Given the description of an element on the screen output the (x, y) to click on. 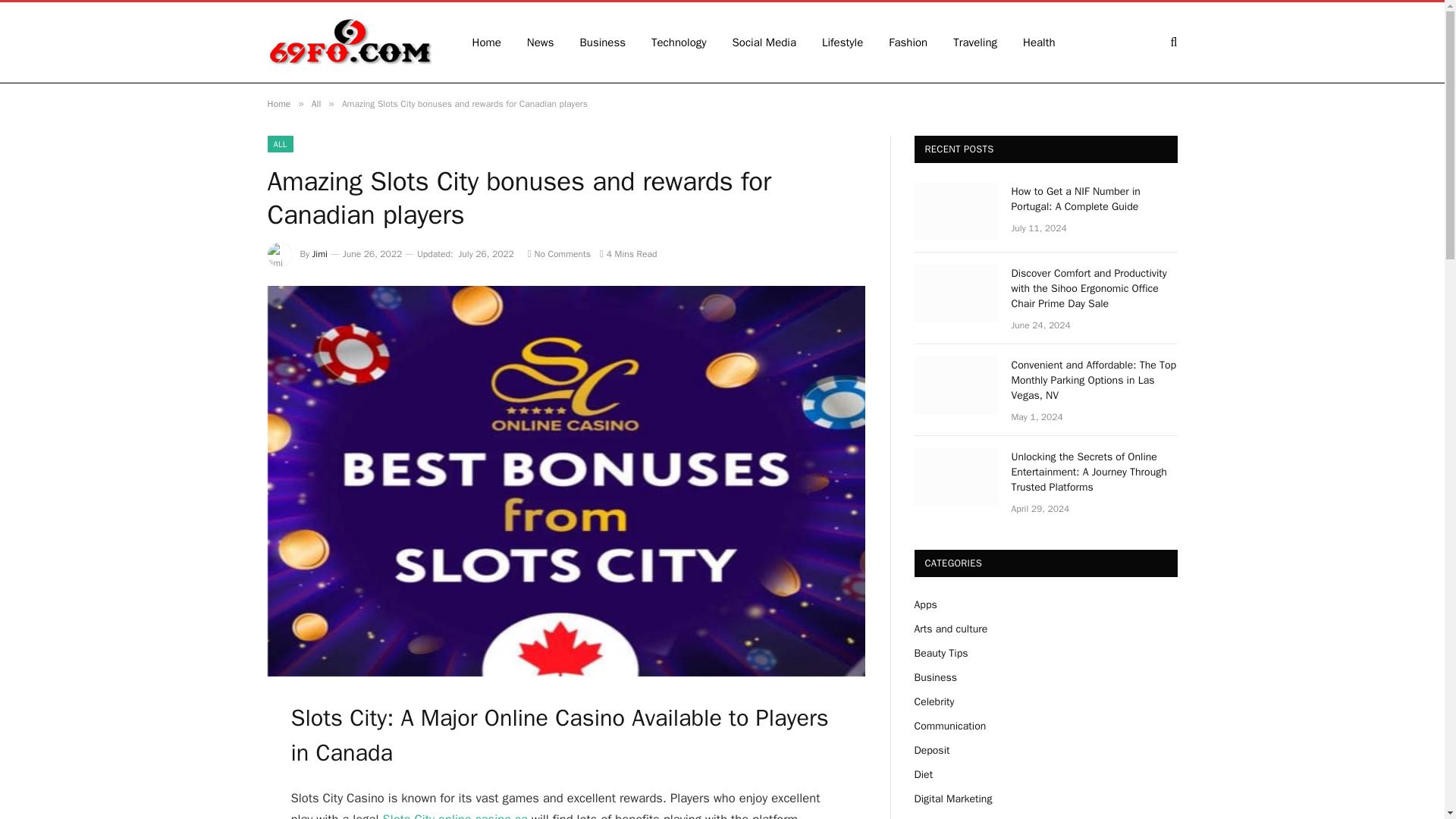
How to Get a NIF Number in Portugal: A Complete Guide (955, 211)
69fo.com (349, 41)
Posts by Jimi (320, 254)
Business (935, 676)
Beauty Tips (941, 653)
ALL (279, 143)
Home (277, 103)
Technology (679, 42)
Social Media (764, 42)
